Given the description of an element on the screen output the (x, y) to click on. 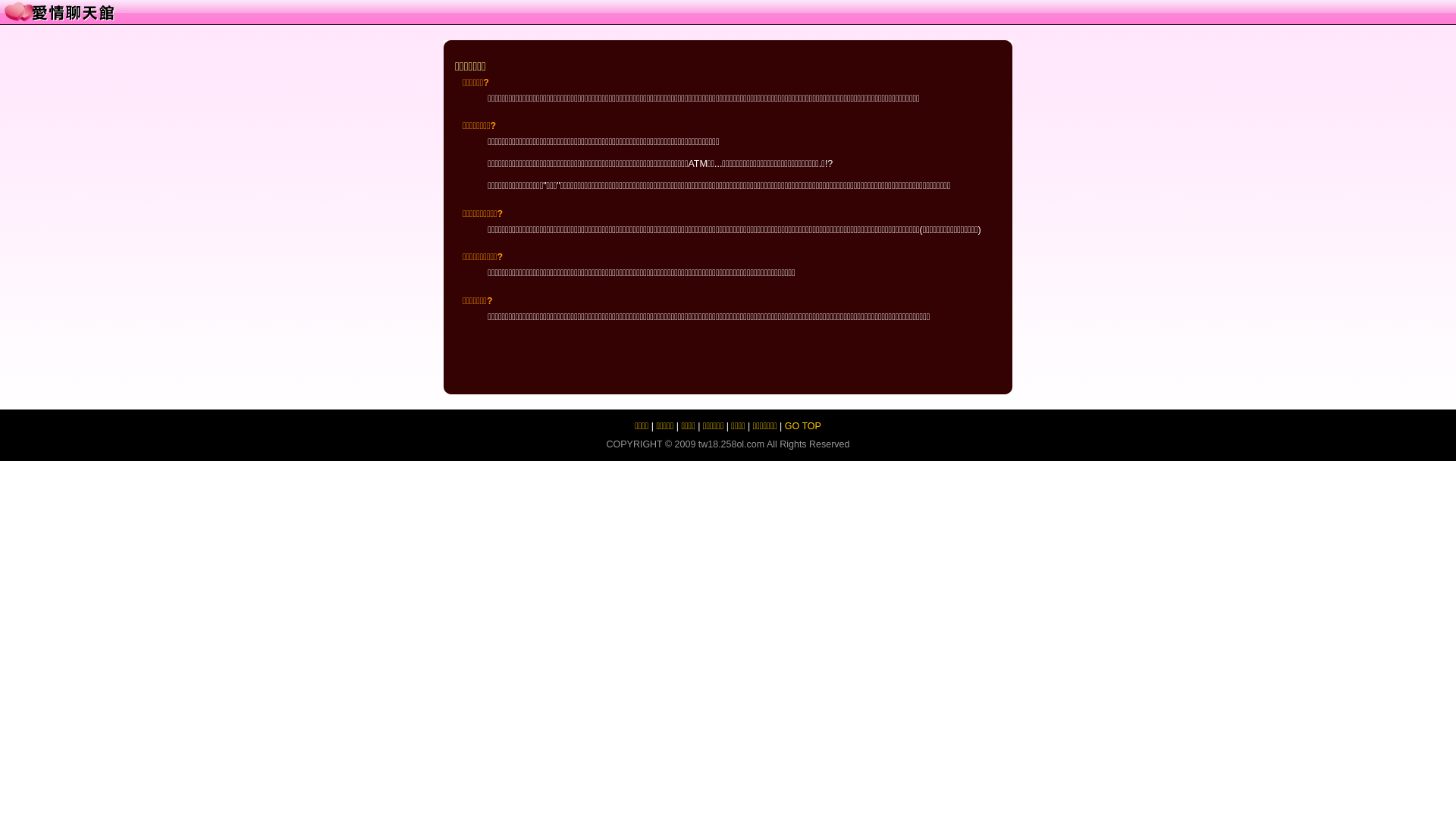
GO TOP Element type: text (802, 425)
tw18.258ol.com Element type: text (731, 444)
